Given the description of an element on the screen output the (x, y) to click on. 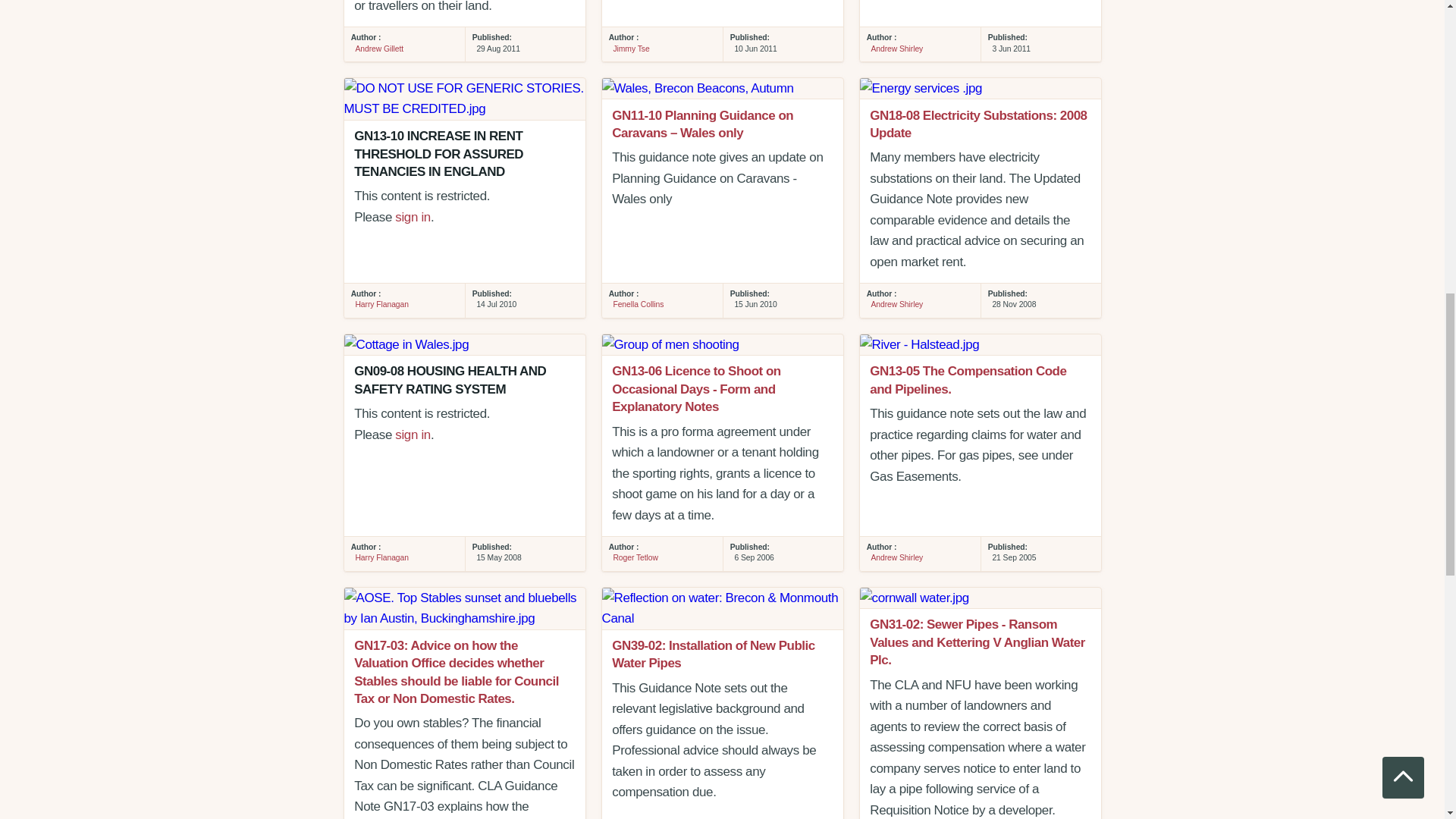
GN18-08 Electricity Substations: 2008 Update (980, 88)
Jimmy Tse (630, 49)
Andrew Gillett (379, 49)
GN13-05 The Compensation Code and Pipelines. (980, 344)
GN39-02: Installation of New Public Water Pipes (722, 608)
GN09-08 HOUSING HEALTH AND SAFETY RATING SYSTEM (464, 344)
